Given the description of an element on the screen output the (x, y) to click on. 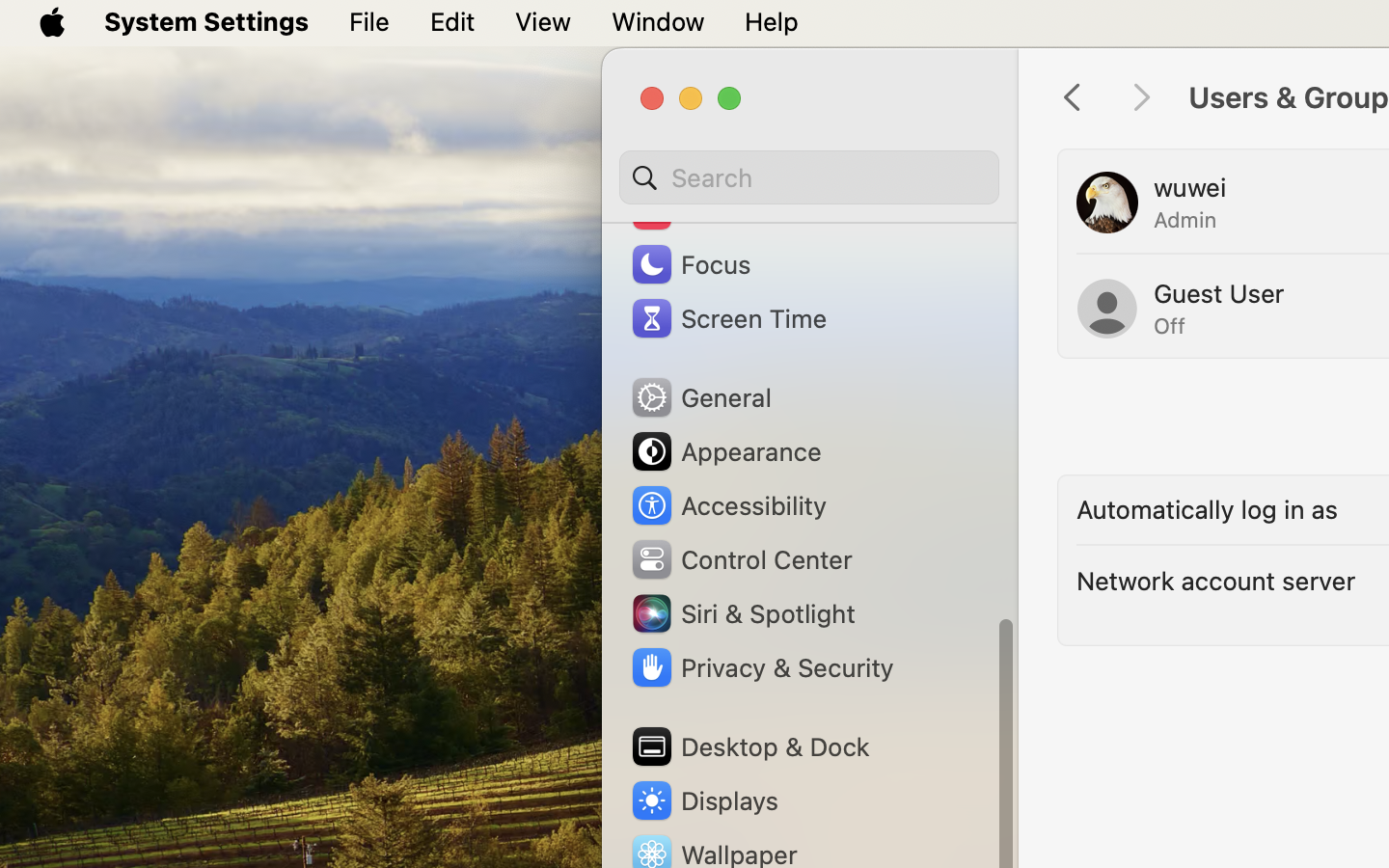
Desktop & Dock Element type: AXStaticText (749, 746)
Sound Element type: AXStaticText (692, 210)
Accessibility Element type: AXStaticText (727, 505)
Focus Element type: AXStaticText (689, 264)
General Element type: AXStaticText (699, 397)
